Given the description of an element on the screen output the (x, y) to click on. 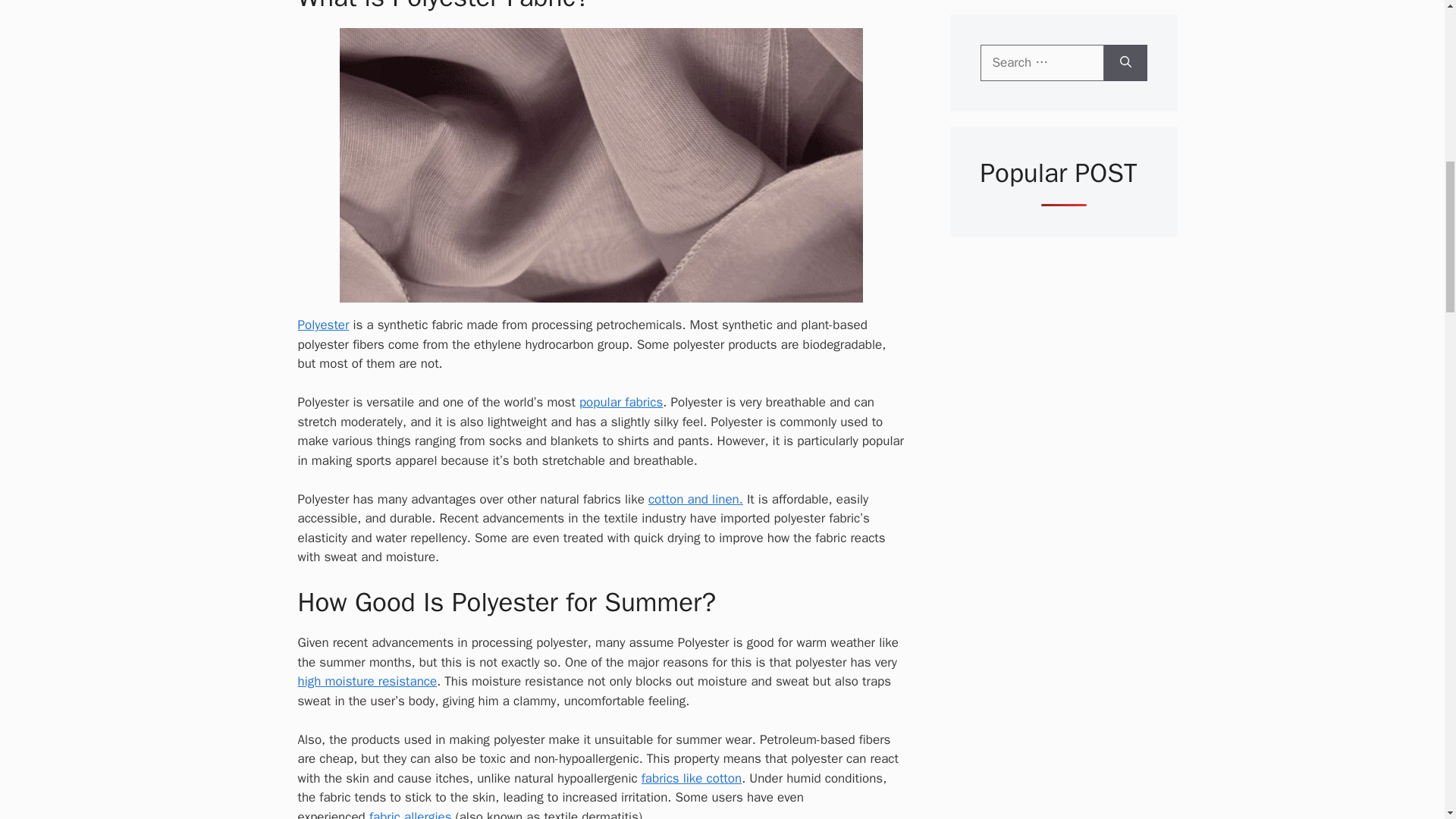
Polyester (323, 324)
Search for: (1041, 63)
cotton and linen. (694, 498)
high moisture resistance (366, 681)
popular fabrics (620, 401)
fabrics like cotton (691, 778)
fabric allergies (410, 814)
